Given the description of an element on the screen output the (x, y) to click on. 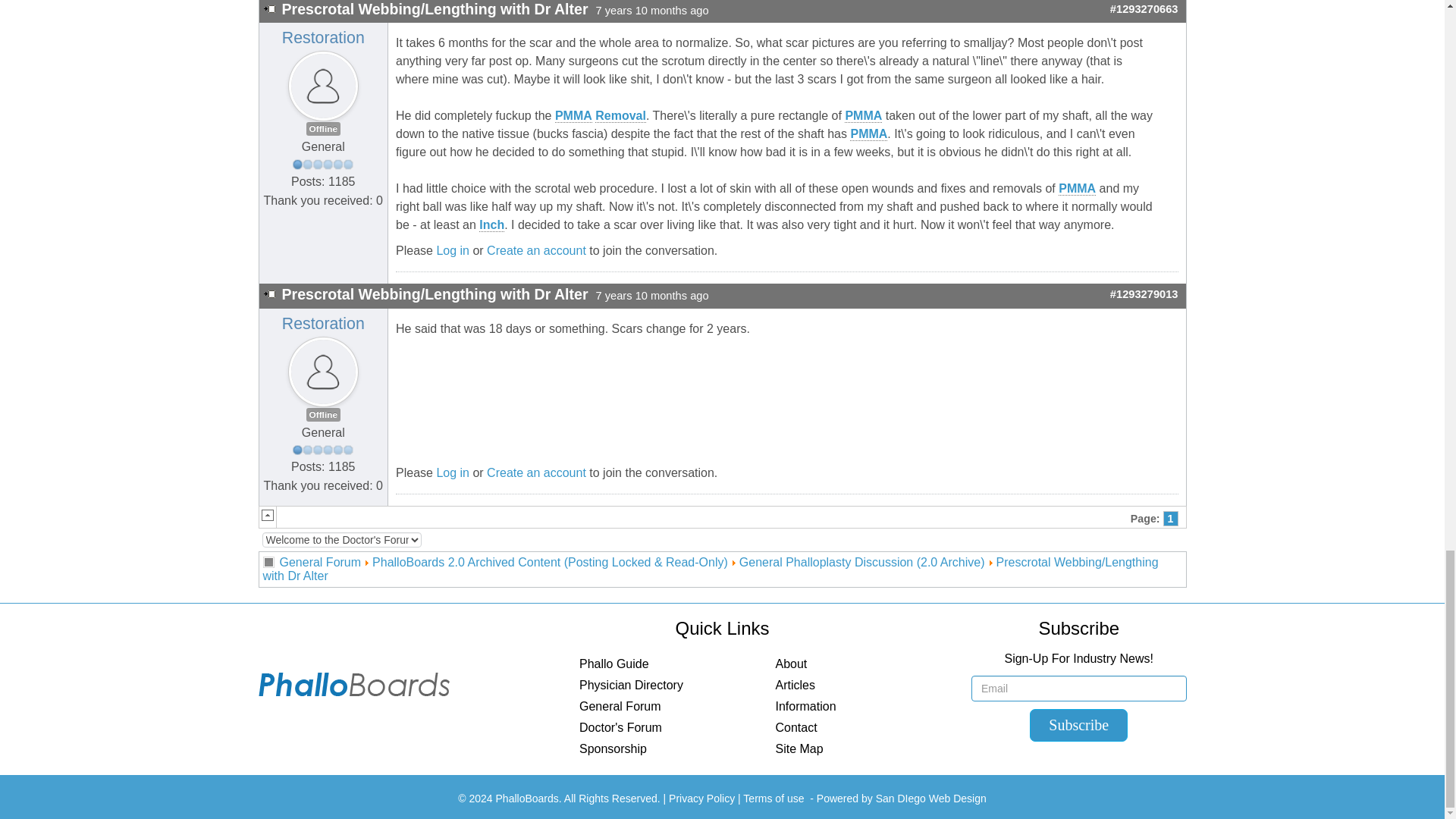
Subscribe (1077, 725)
